Given the description of an element on the screen output the (x, y) to click on. 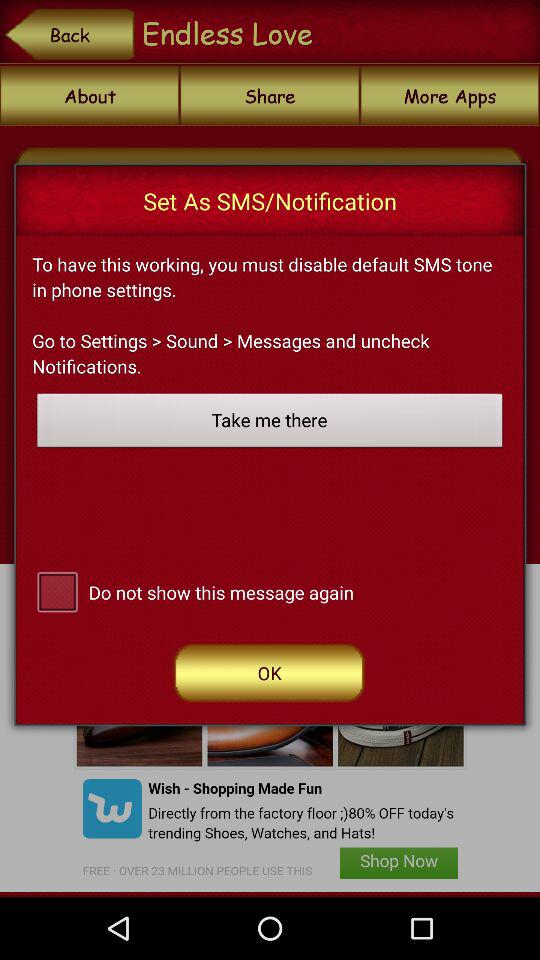
click the check box (57, 590)
